Given the description of an element on the screen output the (x, y) to click on. 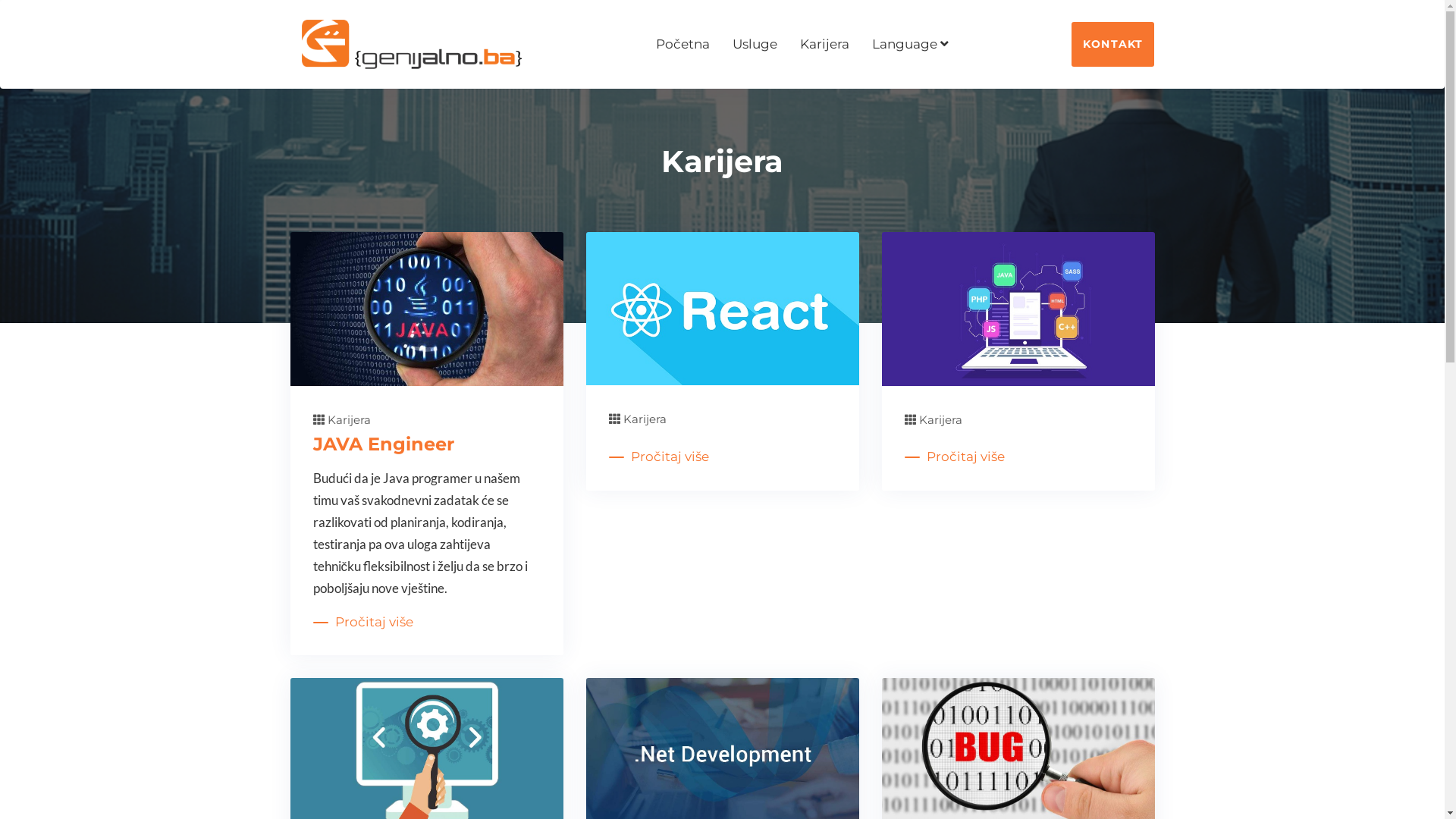
KONTAKT Element type: text (1112, 43)
Karijera Element type: text (636, 419)
Usluge Element type: text (754, 44)
Language Element type: text (910, 44)
Karijera Element type: text (341, 420)
JAVA Engineer Element type: text (382, 444)
Karijera Element type: text (824, 44)
Karijera Element type: text (932, 420)
